Given the description of an element on the screen output the (x, y) to click on. 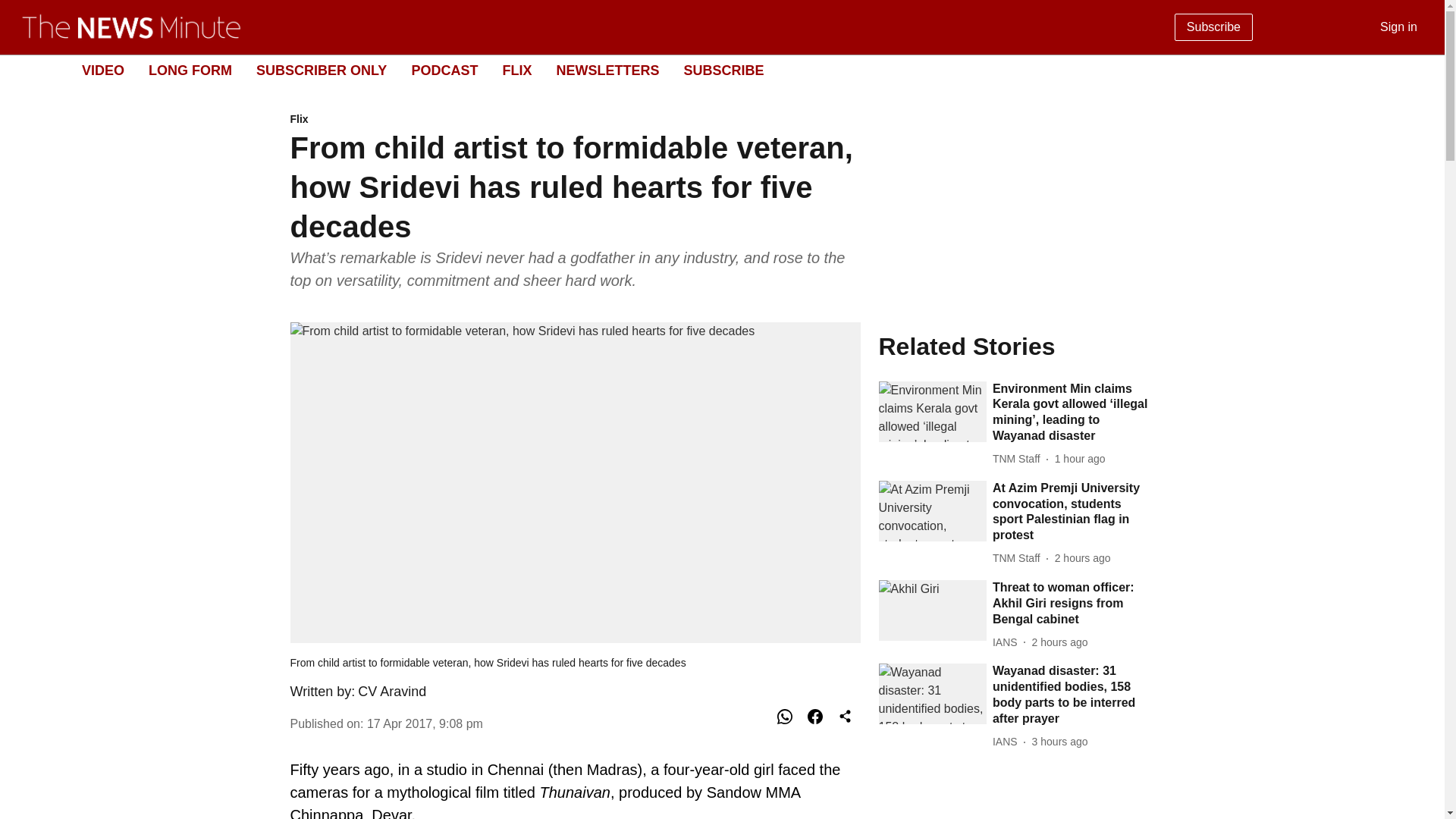
SUBSCRIBE (722, 70)
2017-04-17 13:08 (424, 723)
PODCAST (443, 70)
Flix (574, 119)
2024-08-05 11:52 (1079, 458)
CV Aravind (392, 691)
2024-08-05 10:26 (1059, 741)
SUBSCRIBER ONLY (321, 70)
LONG FORM (189, 70)
NEWSLETTERS (607, 70)
2024-08-05 11:21 (1082, 558)
2024-08-05 10:35 (1059, 642)
VIDEO (102, 70)
FLIX (516, 70)
